Given the description of an element on the screen output the (x, y) to click on. 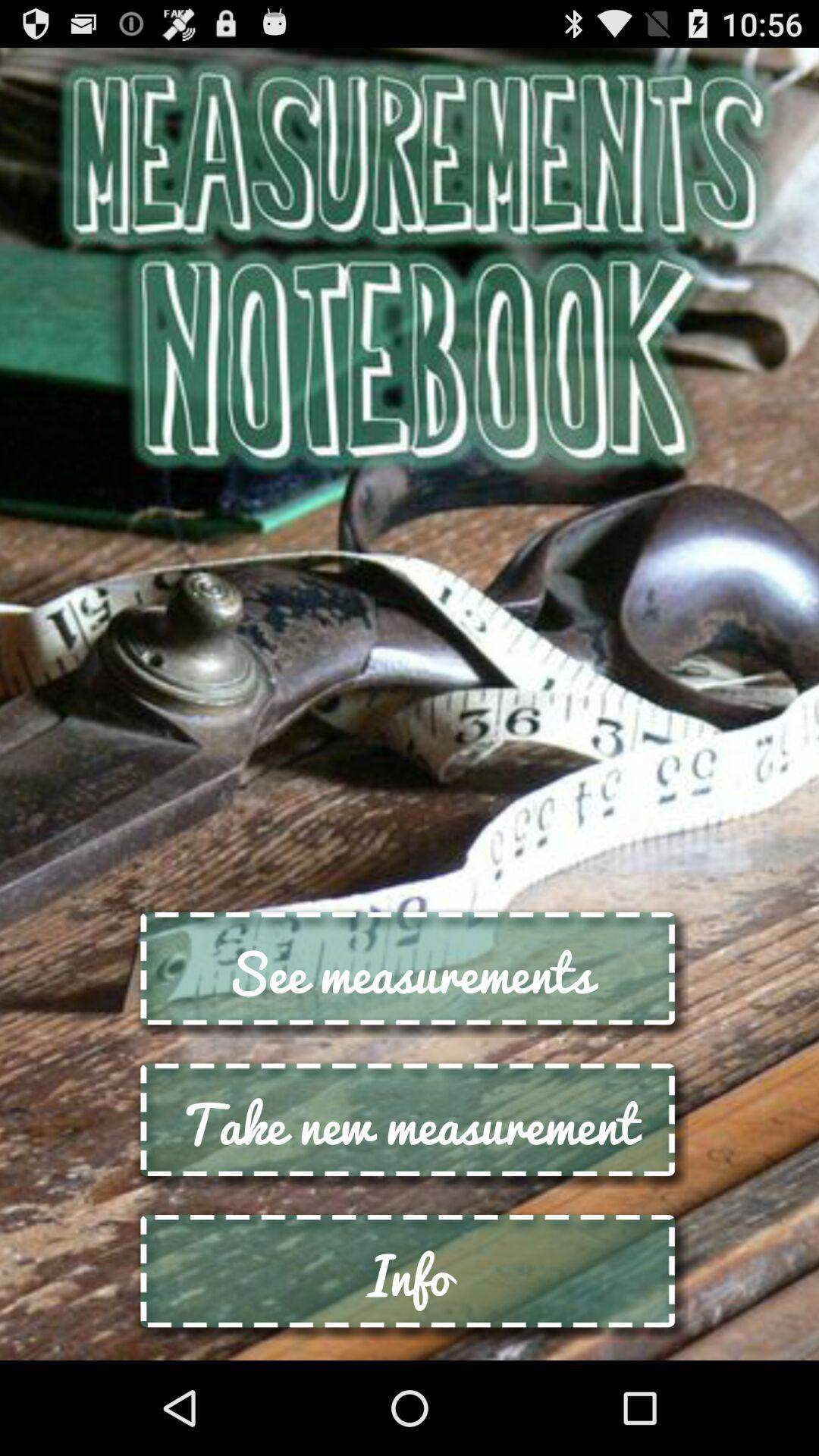
press button below take new measurement icon (409, 1274)
